Given the description of an element on the screen output the (x, y) to click on. 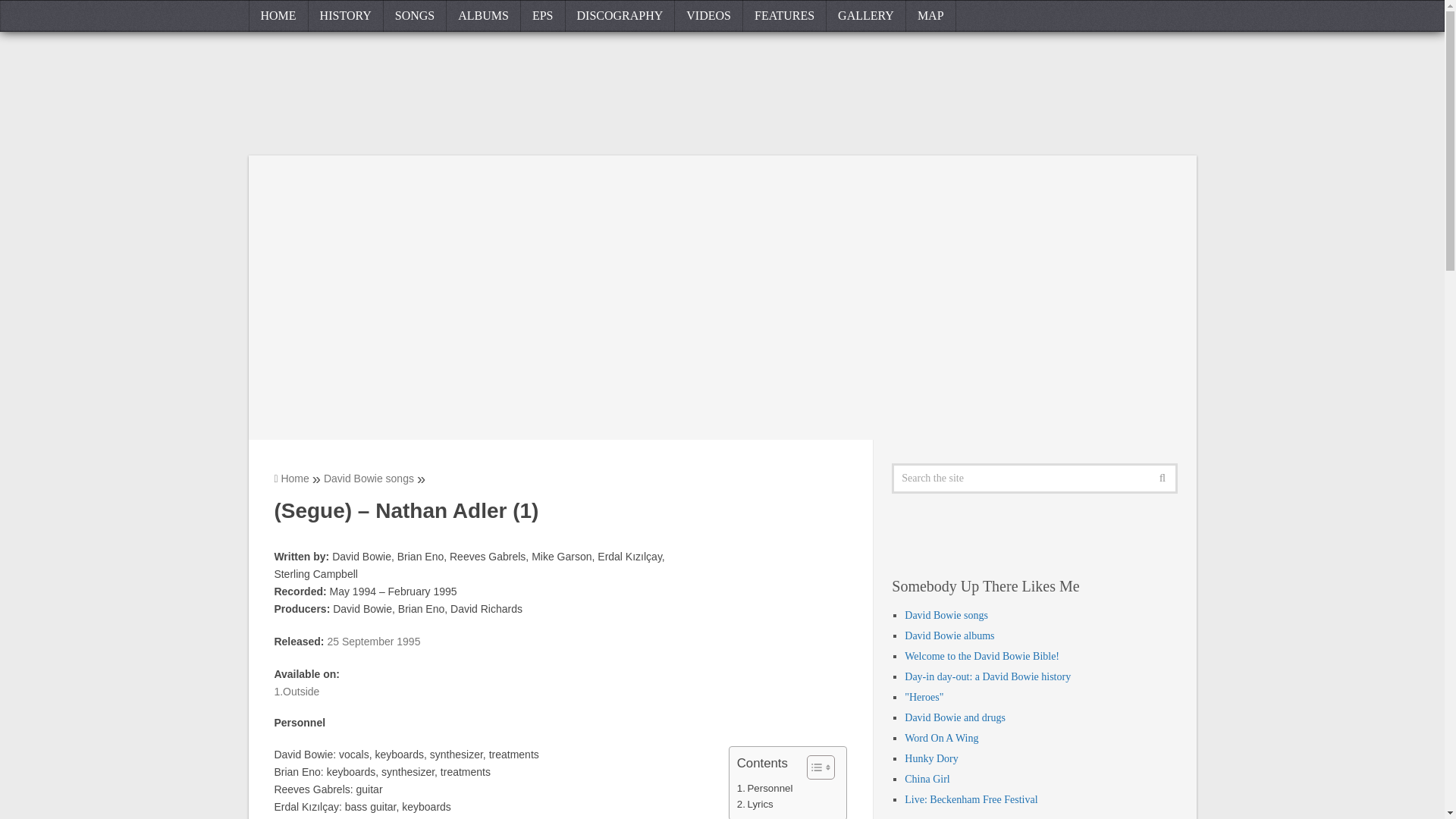
HISTORY (346, 15)
EPS (543, 15)
David Bowie EPs (543, 15)
David Bowie albums (483, 15)
Personnel (764, 788)
David Bowie songs (415, 15)
Lyrics (754, 804)
David Bowie songs (368, 478)
SONGS (415, 15)
David Bowie discography (620, 15)
